Given the description of an element on the screen output the (x, y) to click on. 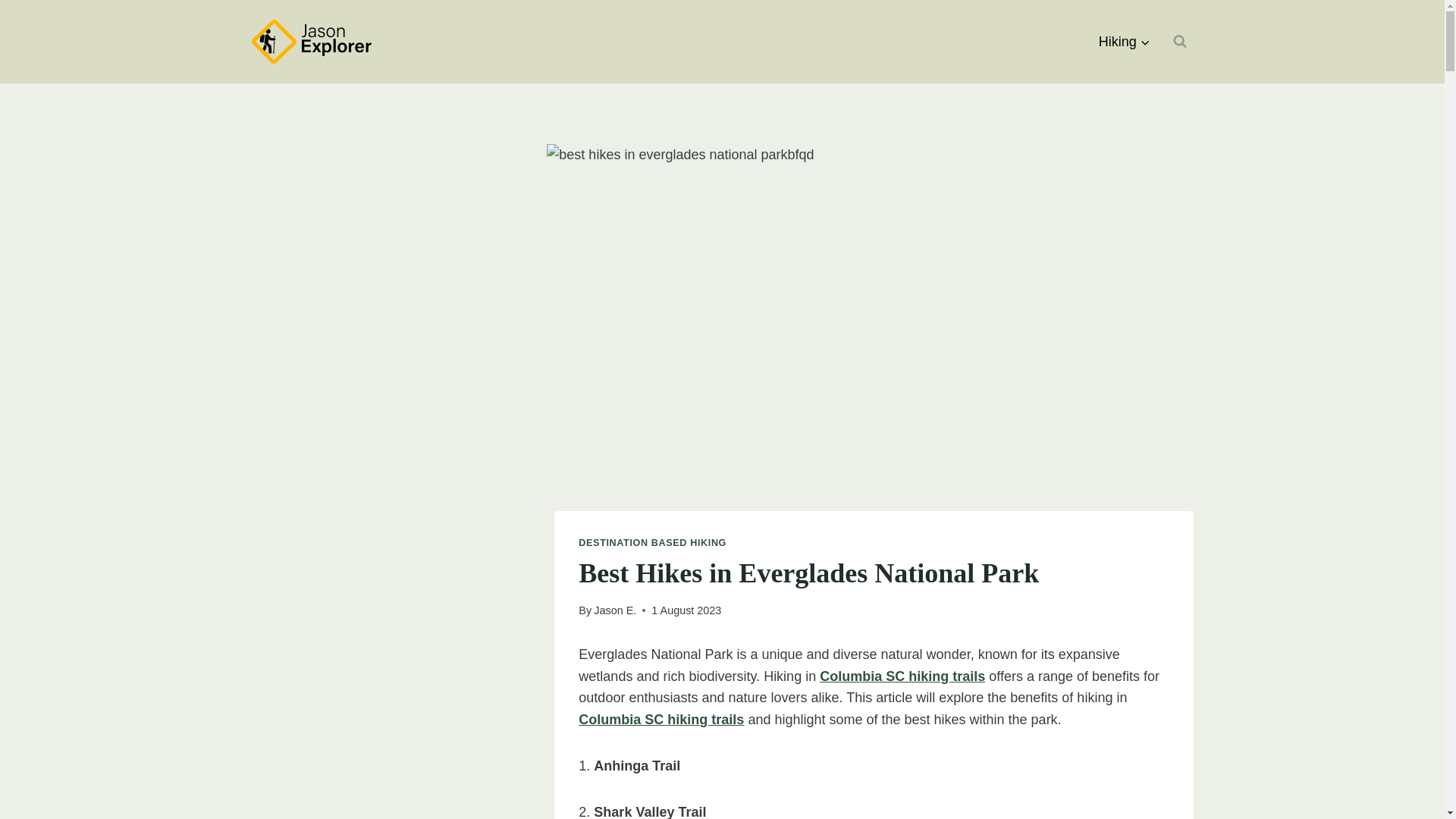
Columbia SC hiking trails (661, 719)
Jason E. (615, 610)
Hiking (1124, 41)
Columbia SC hiking trails (902, 676)
DESTINATION BASED HIKING (652, 542)
